Given the description of an element on the screen output the (x, y) to click on. 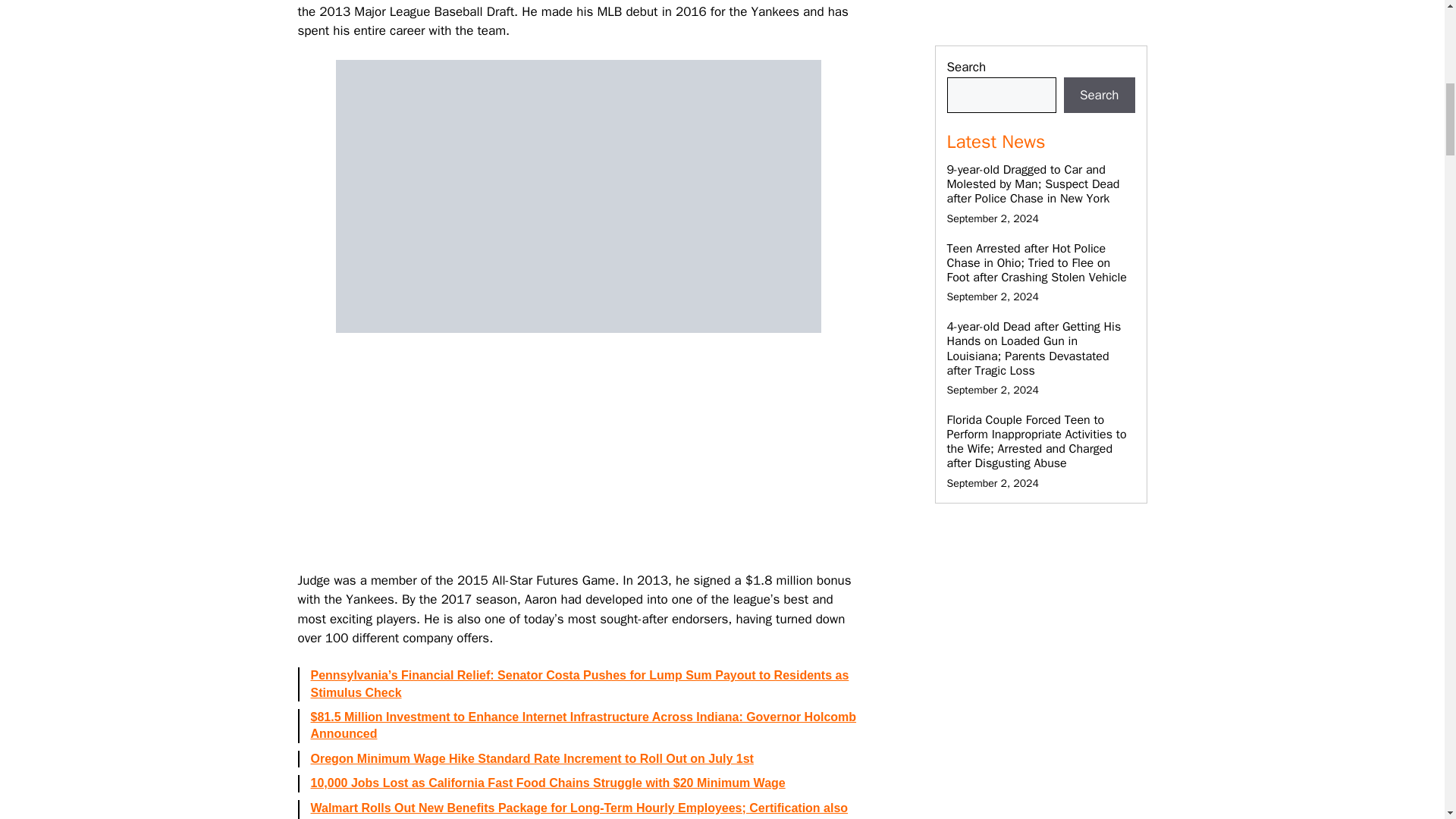
Scroll back to top (1406, 720)
